Given the description of an element on the screen output the (x, y) to click on. 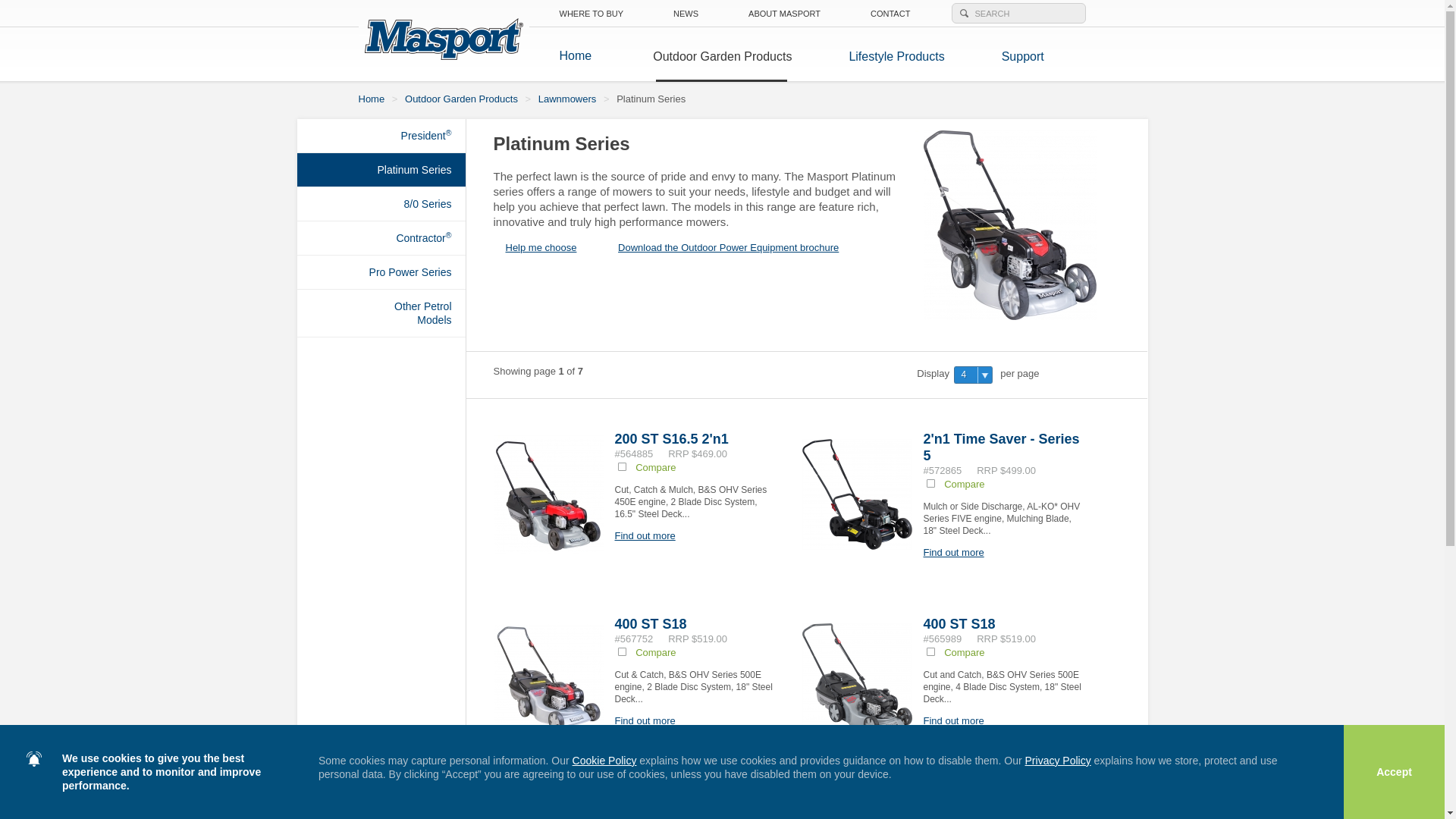
Lifestyle Products Element type: text (896, 54)
8/0 Series Element type: text (381, 203)
Support Element type: text (1011, 54)
200 ST S16.5 2'n1 Element type: text (671, 438)
Cookie Policy Element type: text (604, 760)
400 ST S18 Element type: text (650, 623)
WHERE TO BUY Element type: text (591, 13)
Lawnmowers Element type: text (567, 98)
Home Element type: text (370, 98)
Platinum Series Element type: text (381, 169)
Accept Element type: text (1394, 771)
Pro Power Series Element type: text (381, 271)
NEWS Element type: text (685, 13)
Other Petrol Models Element type: text (381, 312)
Download the Outdoor Power Equipment brochure Element type: text (721, 247)
Privacy Policy Element type: text (1058, 760)
Help me choose Element type: text (547, 247)
ABOUT MASPORT Element type: text (784, 13)
CONTACT Element type: text (890, 13)
Find out more Element type: text (953, 720)
Find out more Element type: text (644, 720)
Outdoor Garden Products Element type: text (722, 54)
400 ST S18 Element type: text (959, 623)
2'n1 Time Saver - Series 5 Element type: text (1001, 447)
Outdoor Garden Products Element type: text (460, 98)
Find out more Element type: text (644, 535)
Home Element type: text (575, 55)
Find out more Element type: text (953, 552)
